Given the description of an element on the screen output the (x, y) to click on. 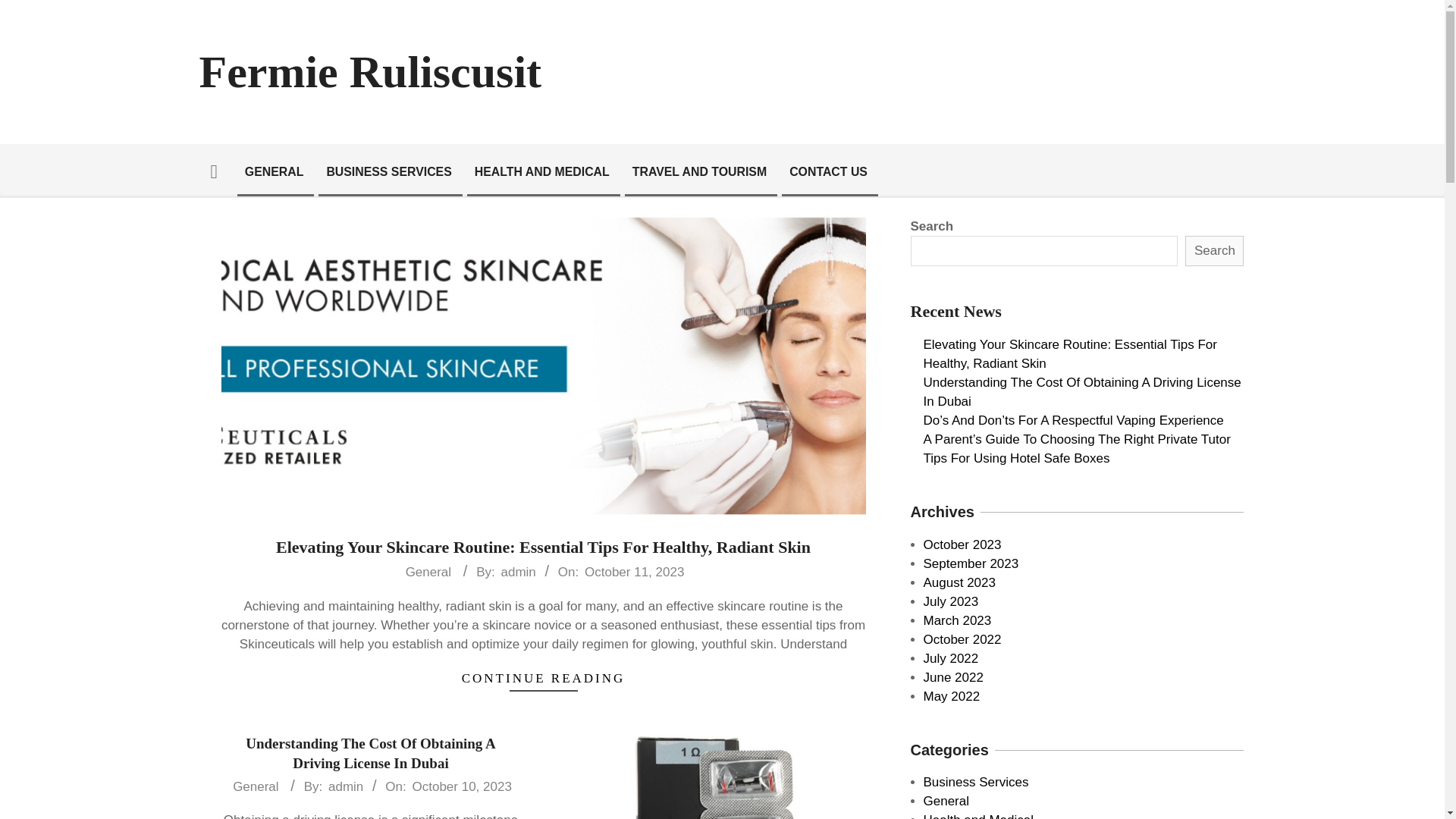
Posts by admin (345, 786)
admin (345, 786)
Posts by admin (517, 572)
TRAVEL AND TOURISM (699, 171)
GENERAL (273, 171)
Tuesday, October 10, 2023, 6:56 am (461, 786)
Fermie Ruliscusit (369, 71)
admin (517, 572)
CONTINUE READING (543, 678)
HEALTH AND MEDICAL (542, 171)
CONTACT US (828, 171)
General (255, 787)
BUSINESS SERVICES (388, 171)
Wednesday, October 11, 2023, 7:13 am (634, 572)
